Given the description of an element on the screen output the (x, y) to click on. 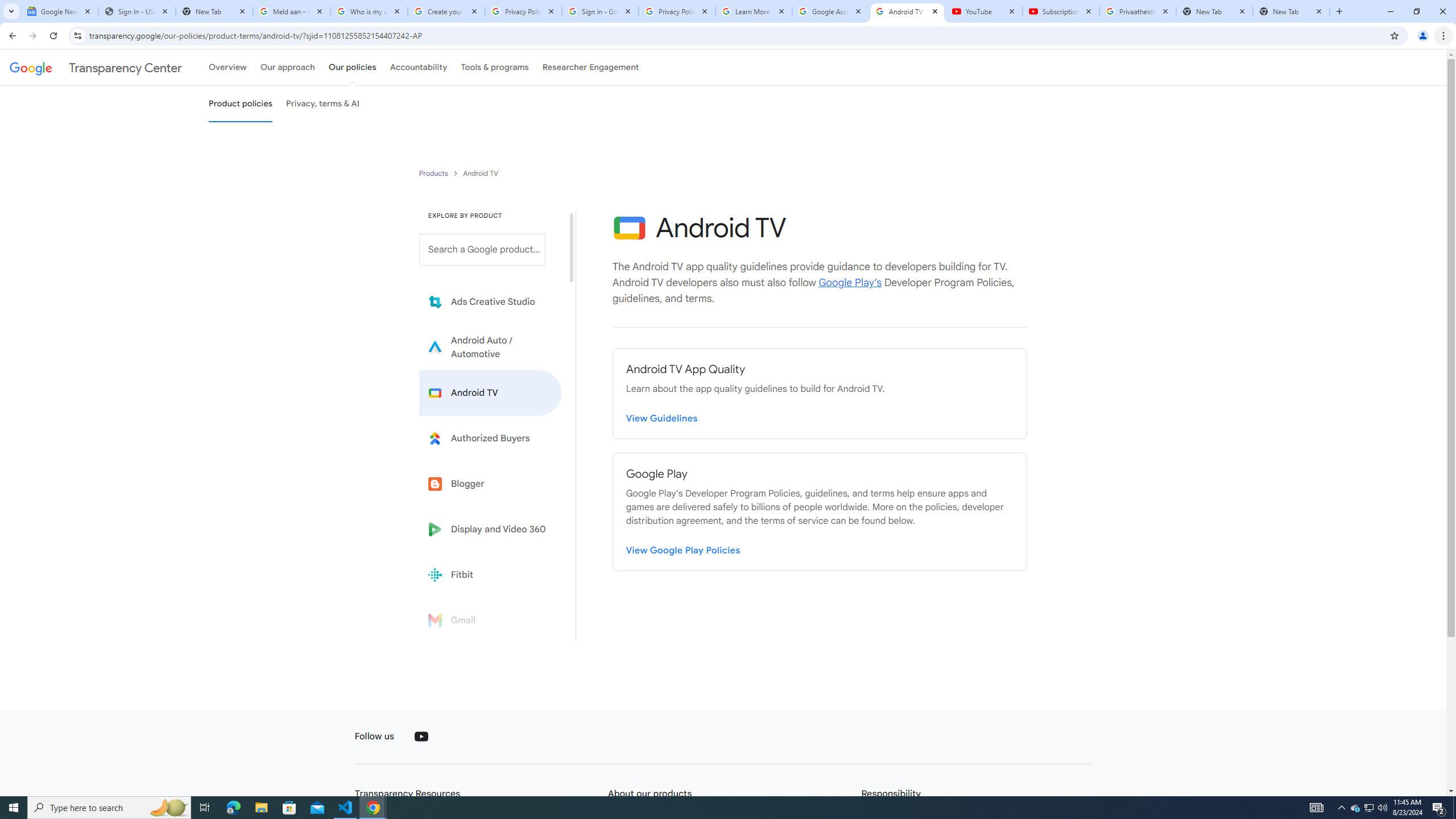
Sign in - Google Accounts (599, 11)
